Given the description of an element on the screen output the (x, y) to click on. 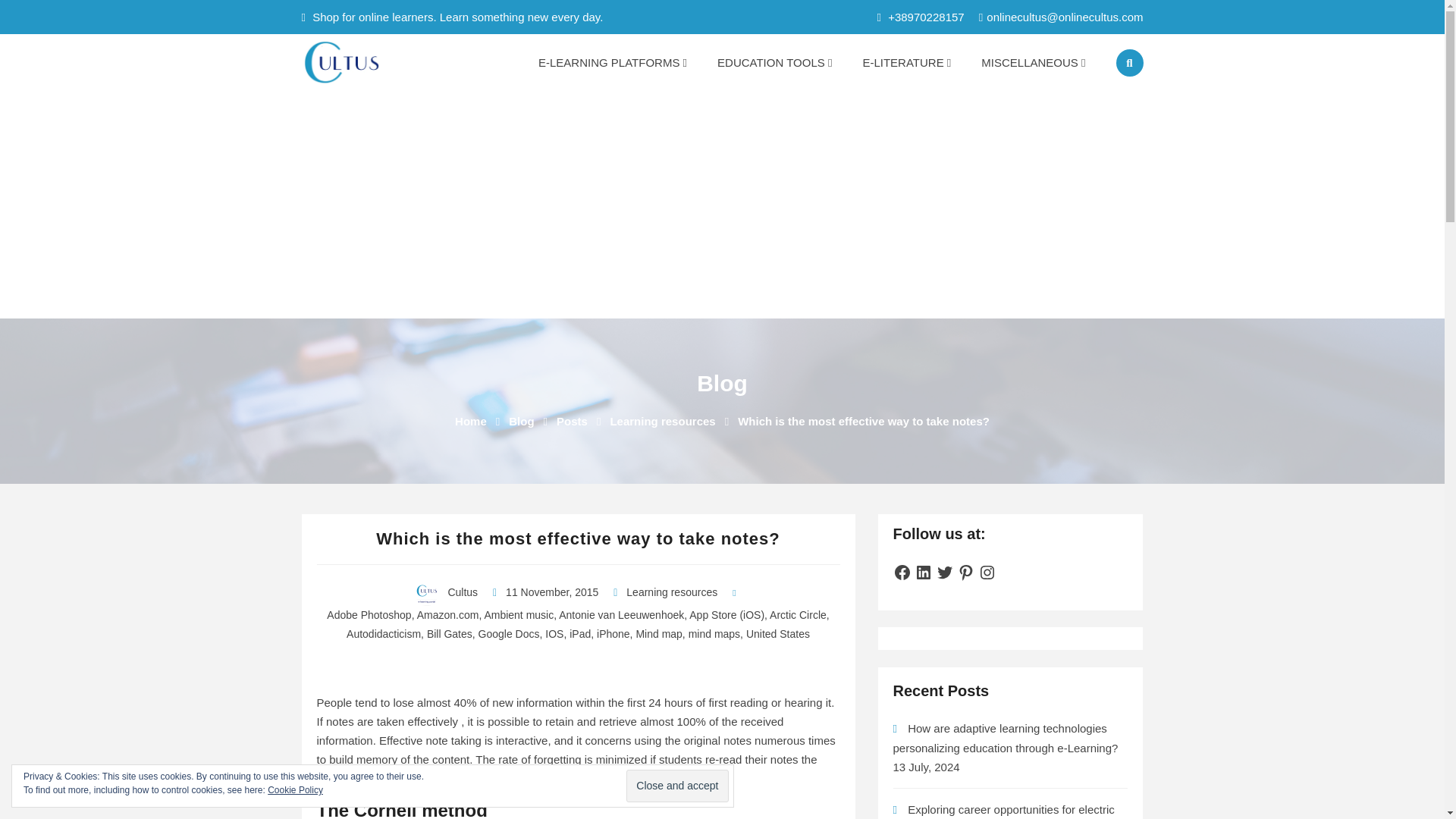
EDUCATION TOOLS (774, 62)
Close and accept (677, 785)
E-LITERATURE (906, 62)
Education tools (774, 62)
E-learning platforms (611, 62)
E-LEARNING PLATFORMS (611, 62)
